Given the description of an element on the screen output the (x, y) to click on. 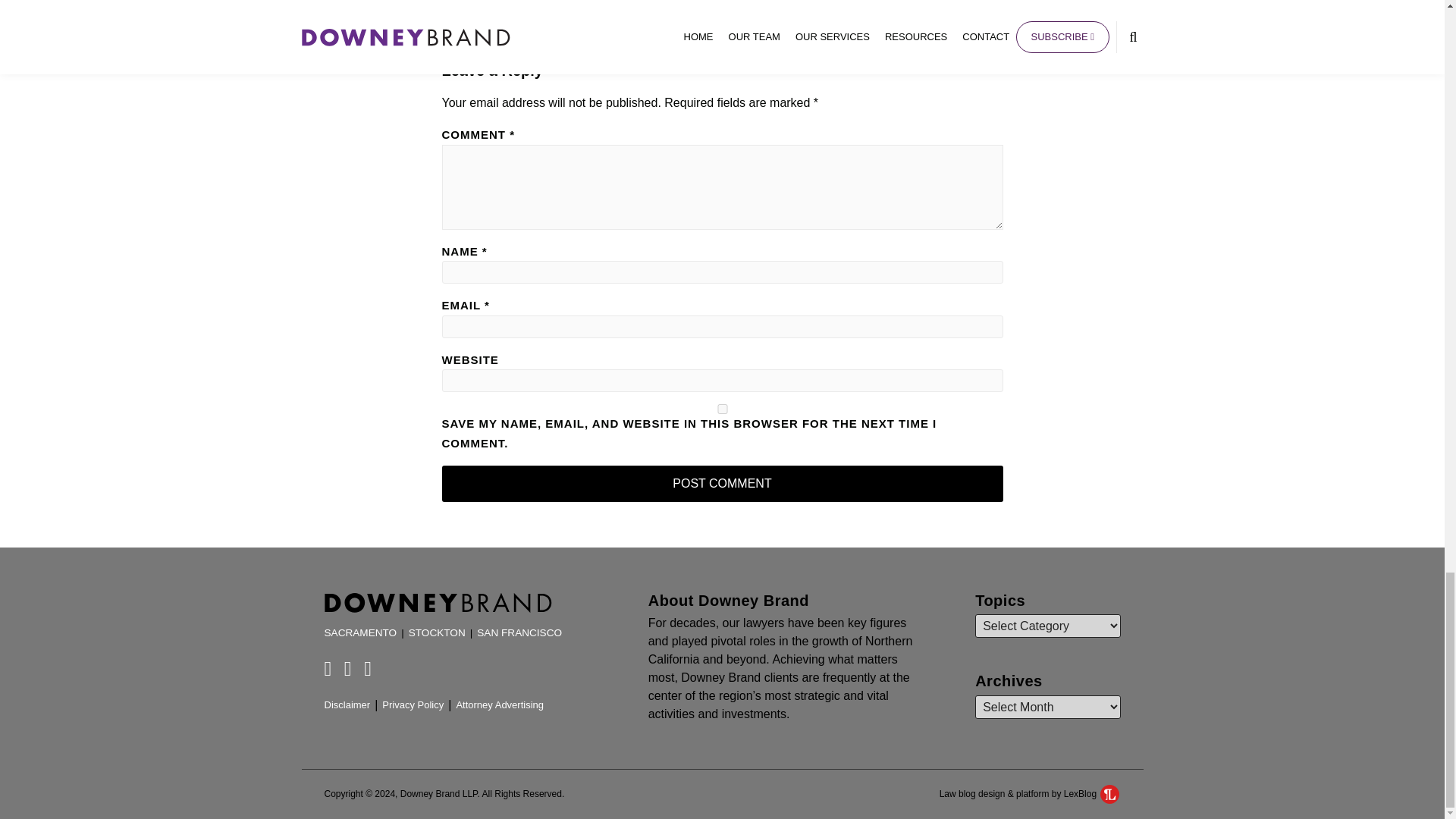
LexBlog Logo (1109, 793)
STOCKTON (437, 632)
yes (722, 409)
SACRAMENTO (360, 632)
Post Comment (722, 484)
Post Comment (722, 484)
SAN FRANCISCO (519, 632)
